Given the description of an element on the screen output the (x, y) to click on. 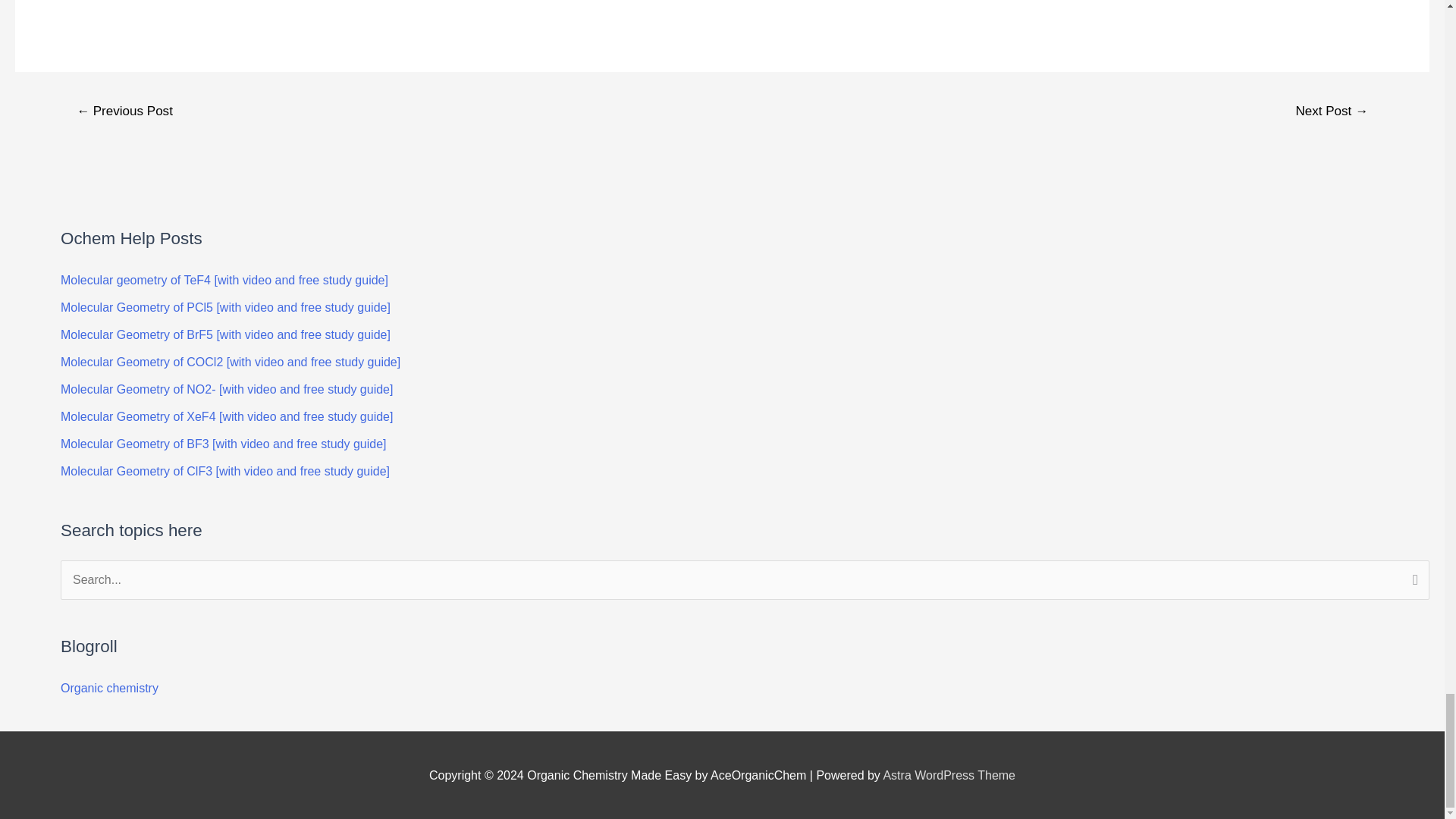
Naming Alkanes: The Complete Guide (124, 112)
Organic chemistry help for all students  (109, 687)
Search (1411, 581)
Search (1411, 581)
